Given the description of an element on the screen output the (x, y) to click on. 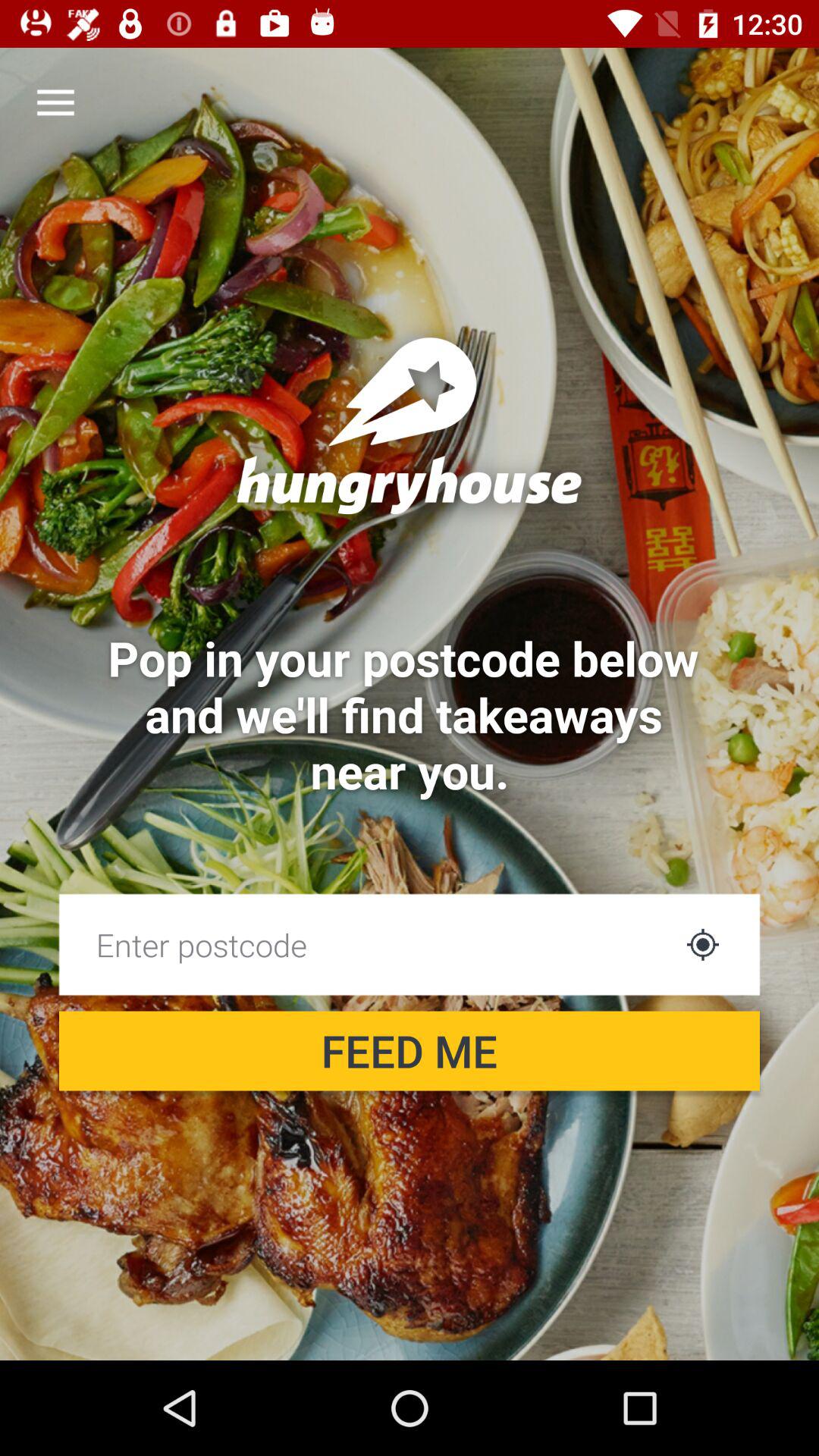
launch feed me icon (409, 1050)
